Given the description of an element on the screen output the (x, y) to click on. 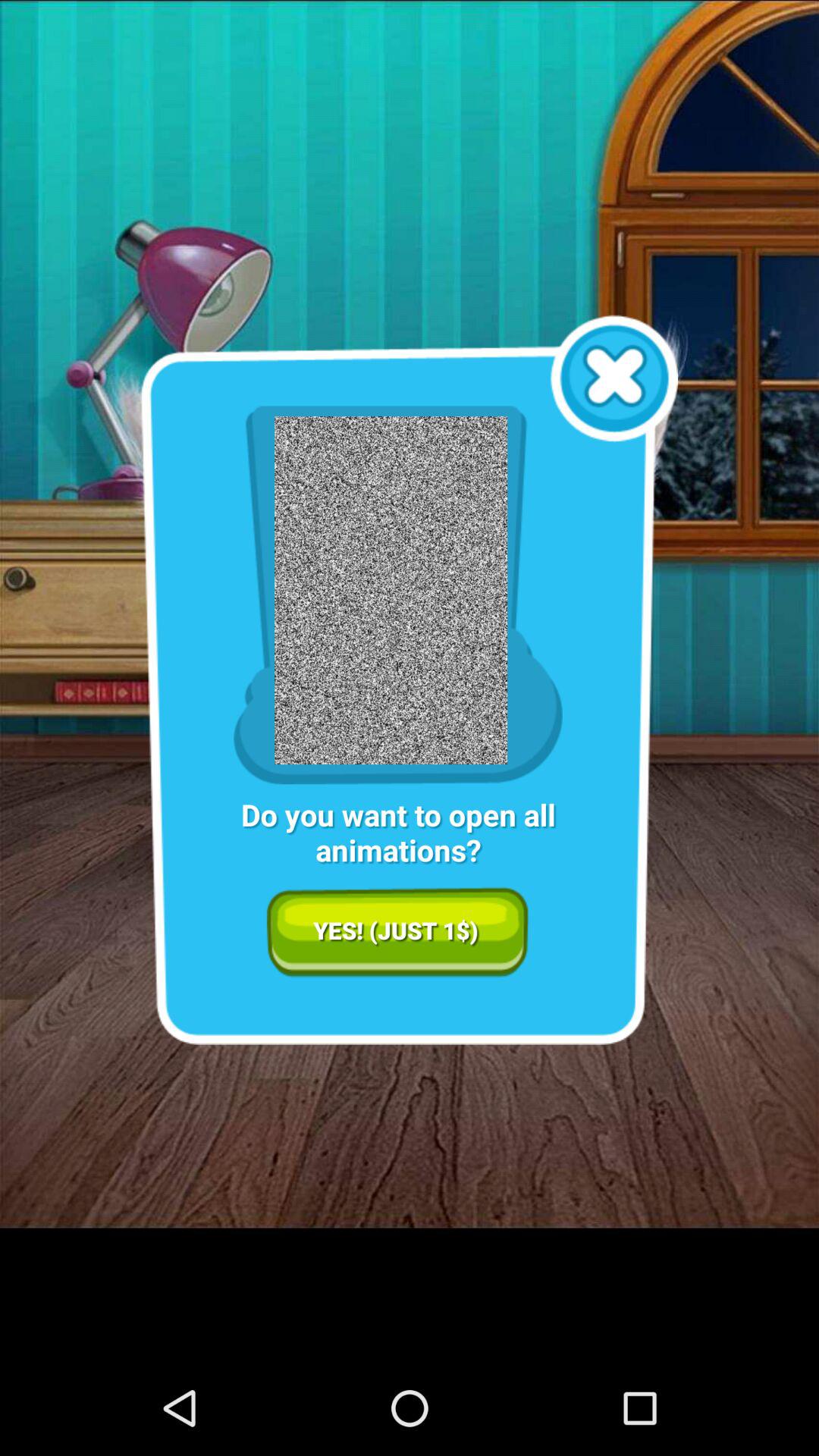
select item at the top right corner (613, 378)
